Given the description of an element on the screen output the (x, y) to click on. 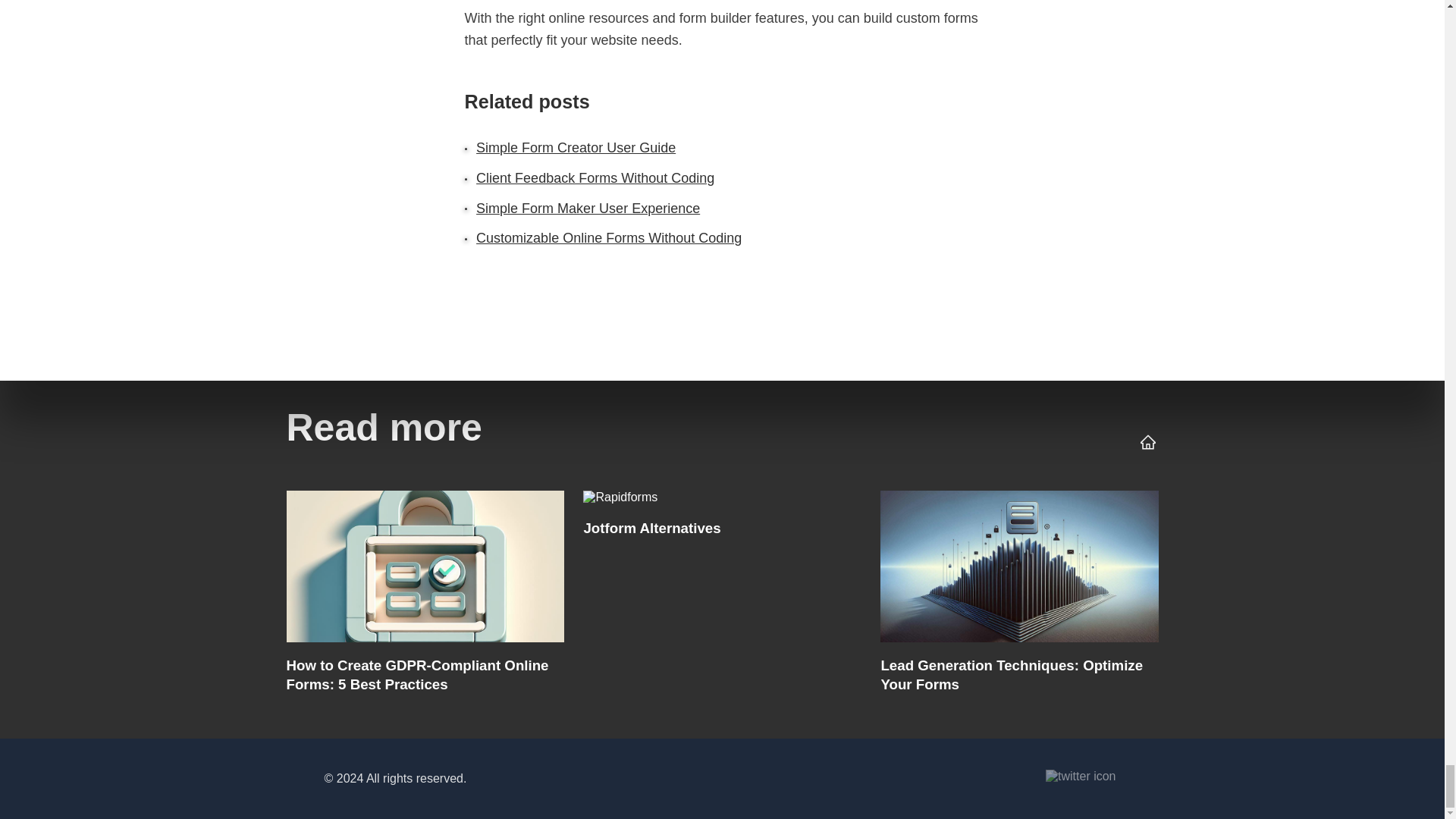
Simple Form Maker User Experience (588, 208)
Customizable Online Forms Without Coding (608, 237)
Client Feedback Forms Without Coding (425, 595)
Client Feedback Forms Without Coding (595, 177)
Customizable Online Forms Without Coding (721, 595)
Good Data Management Practices for Better User Forms (1019, 595)
Simple Form Creator User Guide (575, 147)
